Given the description of an element on the screen output the (x, y) to click on. 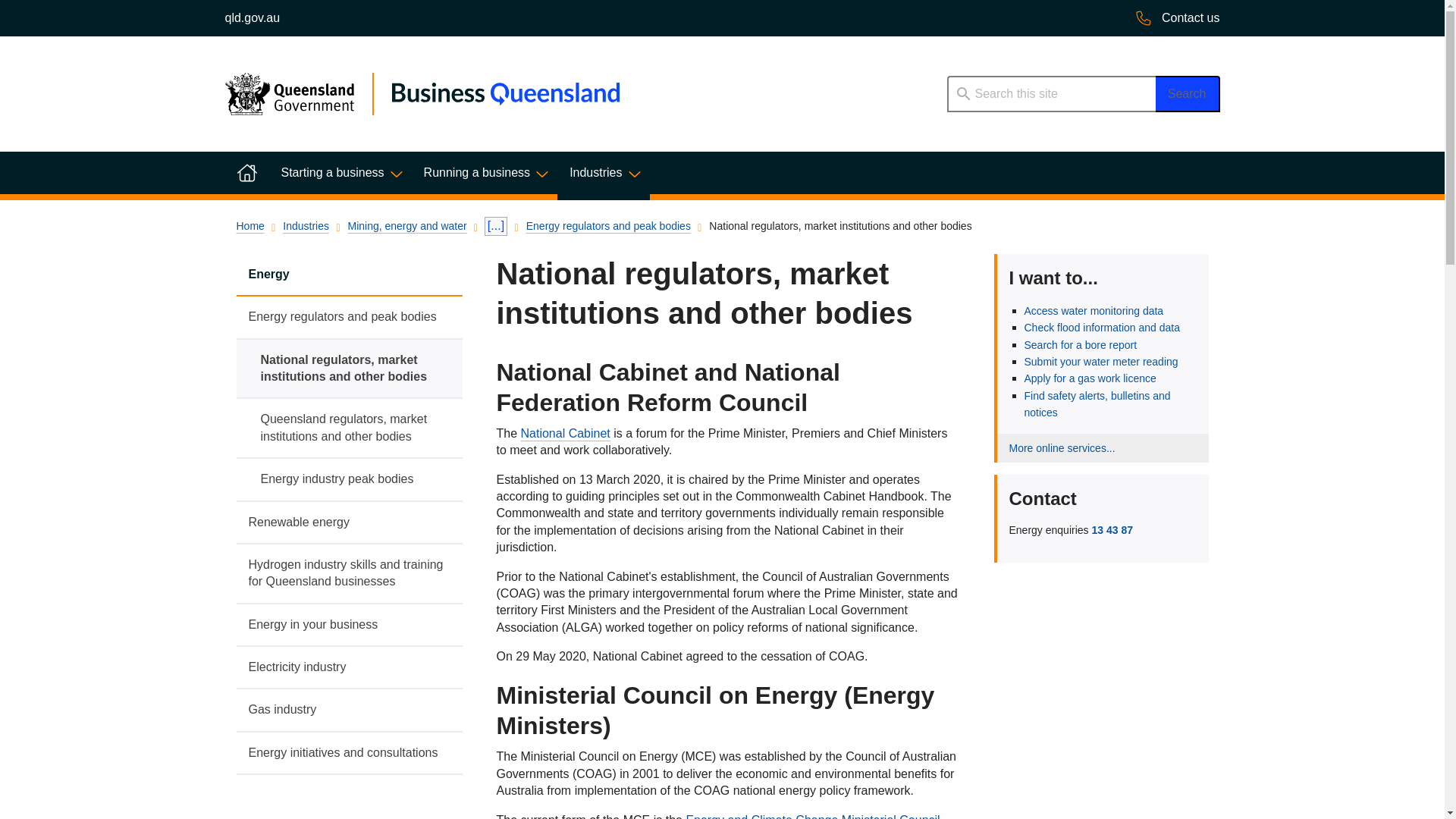
Starting a business (338, 172)
Search (1188, 94)
Search this site (1050, 94)
Home (245, 172)
qld.gov.au (251, 18)
Contact us (1177, 18)
Running a business (484, 172)
